Given the description of an element on the screen output the (x, y) to click on. 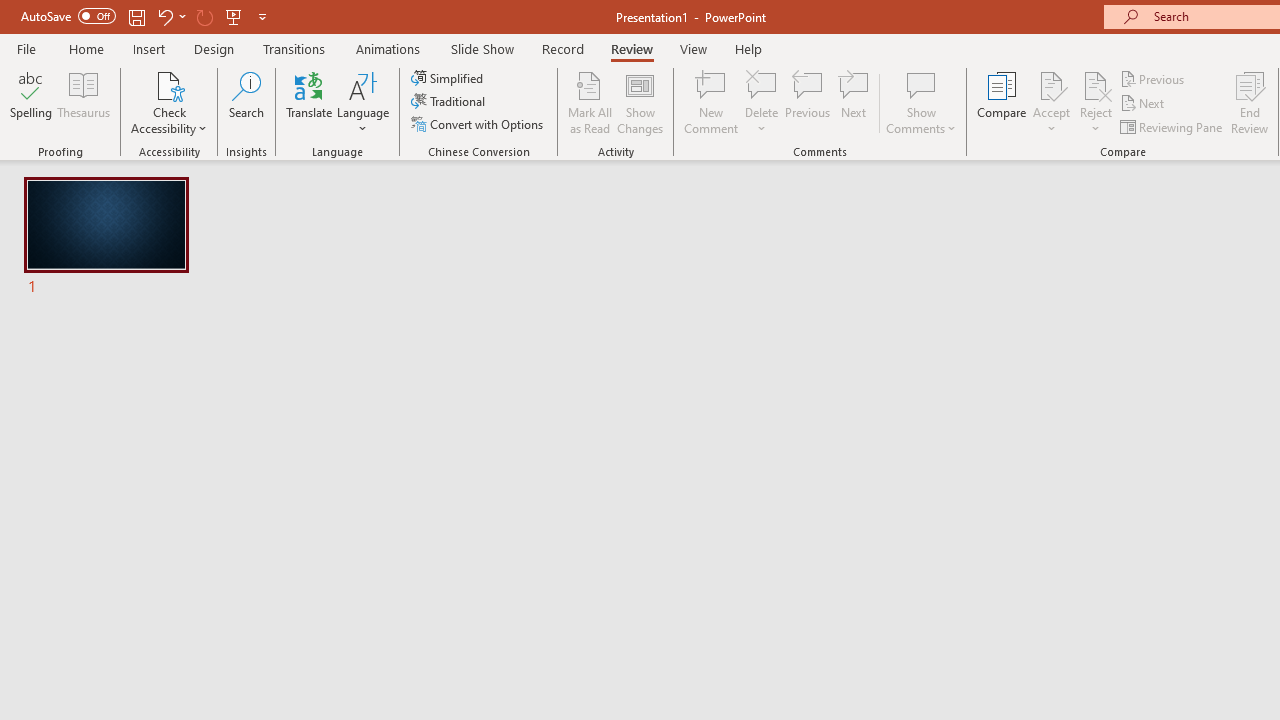
Show Comments (921, 102)
Reviewing Pane (1172, 126)
